Given the description of an element on the screen output the (x, y) to click on. 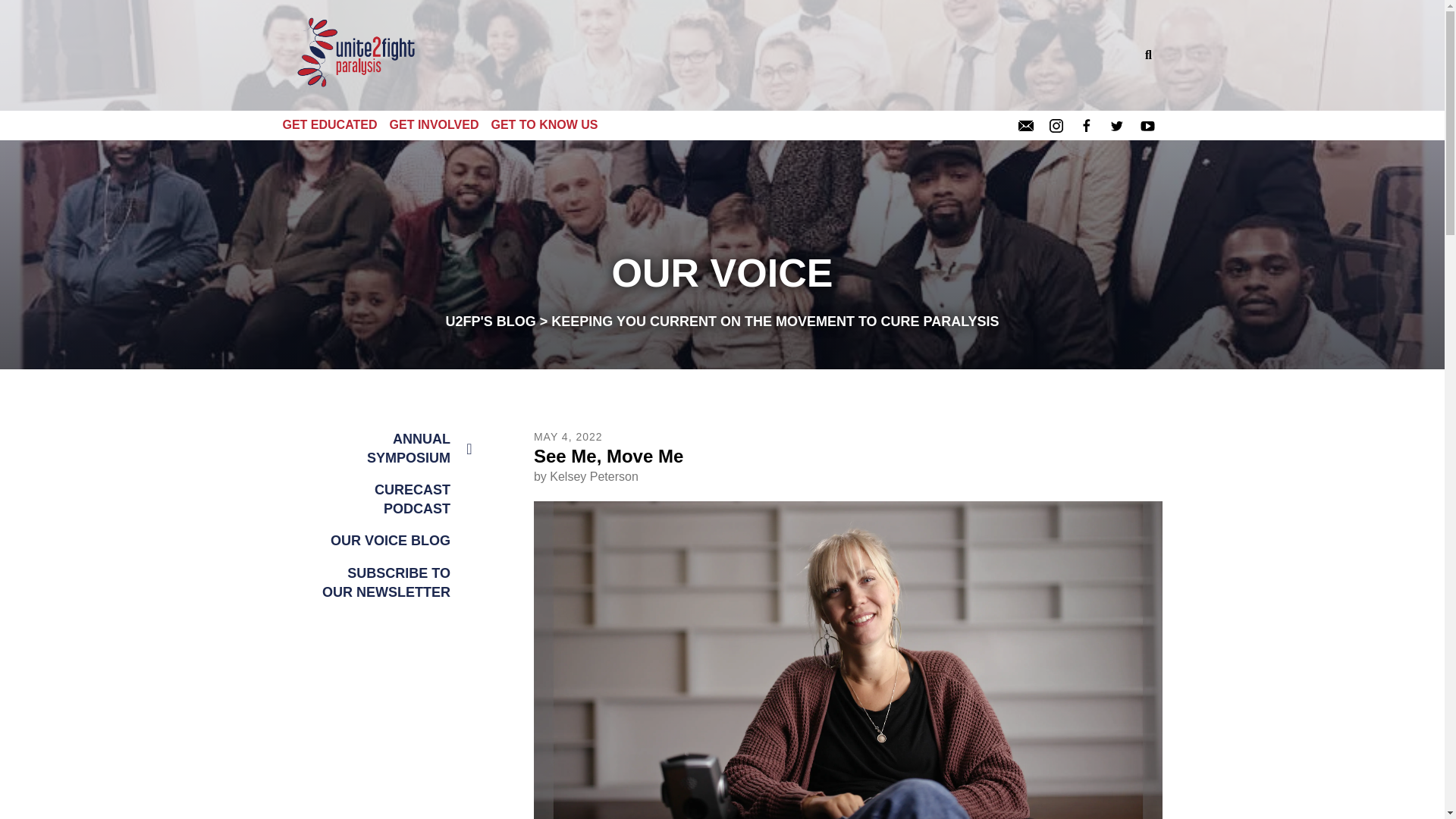
GET EDUCATED (335, 124)
logo (357, 55)
